Given the description of an element on the screen output the (x, y) to click on. 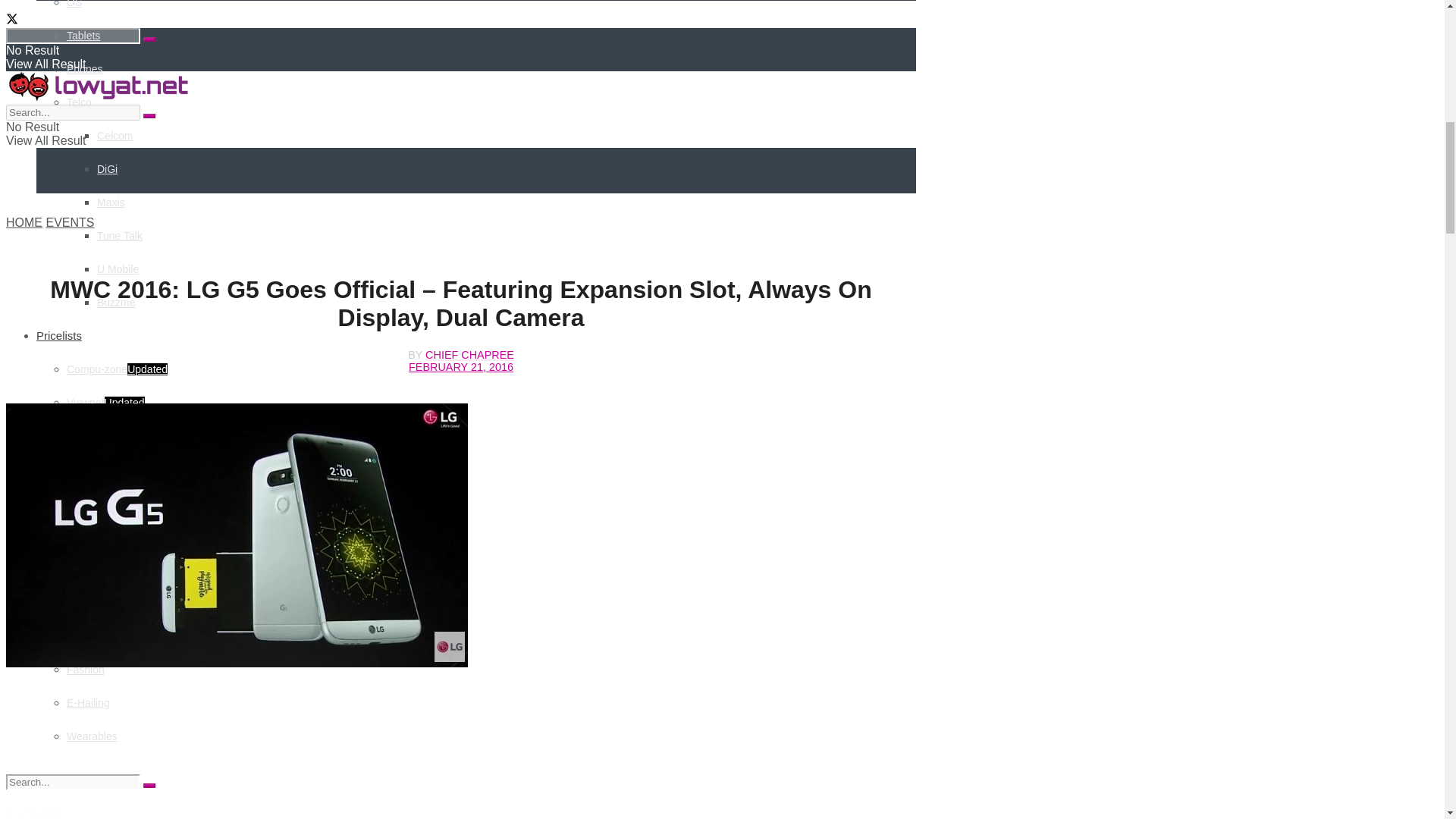
OS (73, 4)
Tablets (83, 35)
Celcom (114, 135)
Phones (83, 69)
Tune Talk (119, 235)
Telco (78, 102)
Maxis (111, 202)
DiGi (107, 168)
